Given the description of an element on the screen output the (x, y) to click on. 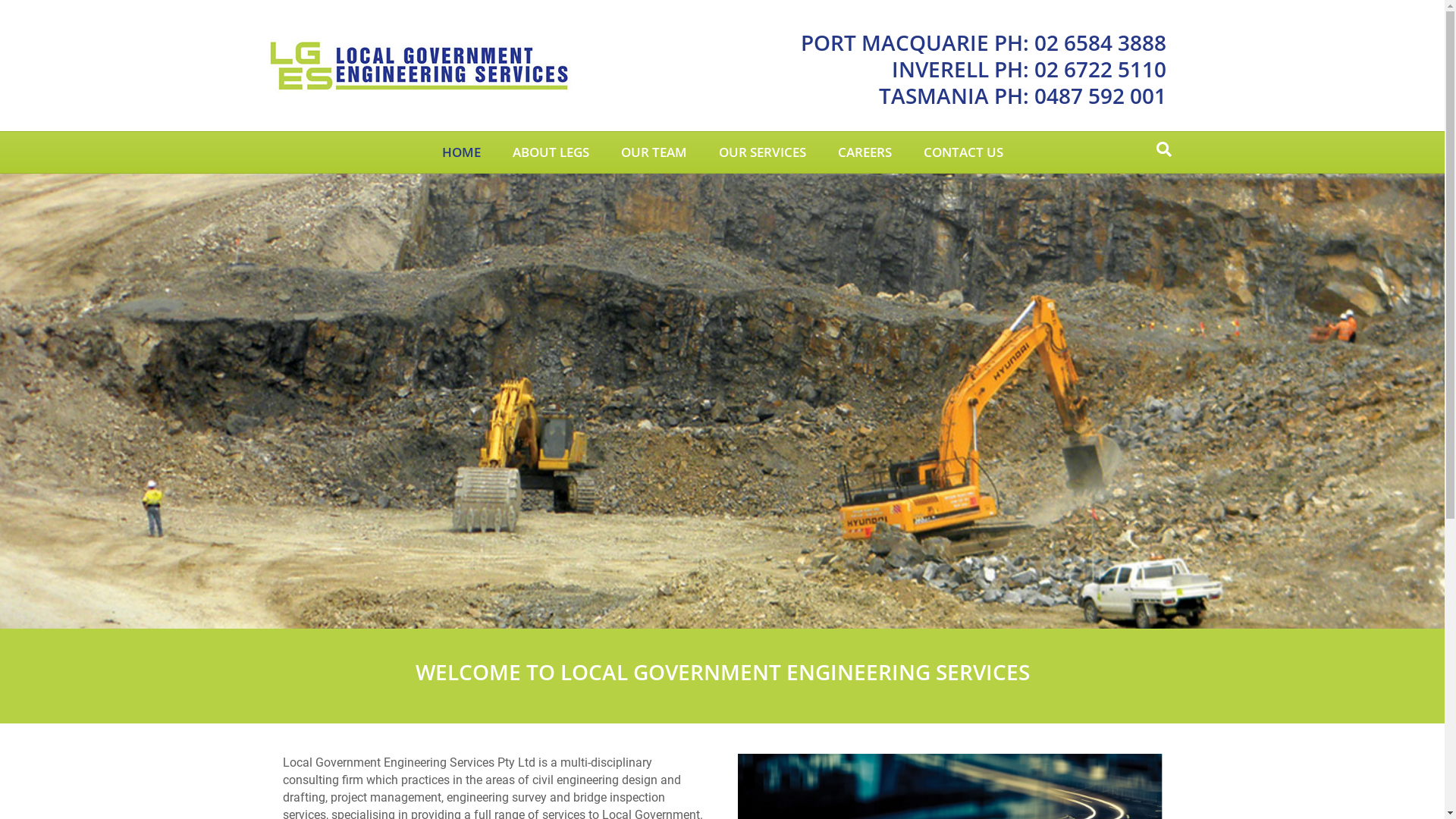
CONTACT US Element type: text (962, 151)
02 6722 5110 Element type: text (1100, 68)
HOME Element type: text (461, 151)
CAREERS Element type: text (864, 151)
02 6584 3888 Element type: text (1100, 42)
ABOUT LEGS Element type: text (549, 151)
OUR TEAM Element type: text (653, 151)
OUR SERVICES Element type: text (761, 151)
0487 592 001 Element type: text (1100, 95)
